Given the description of an element on the screen output the (x, y) to click on. 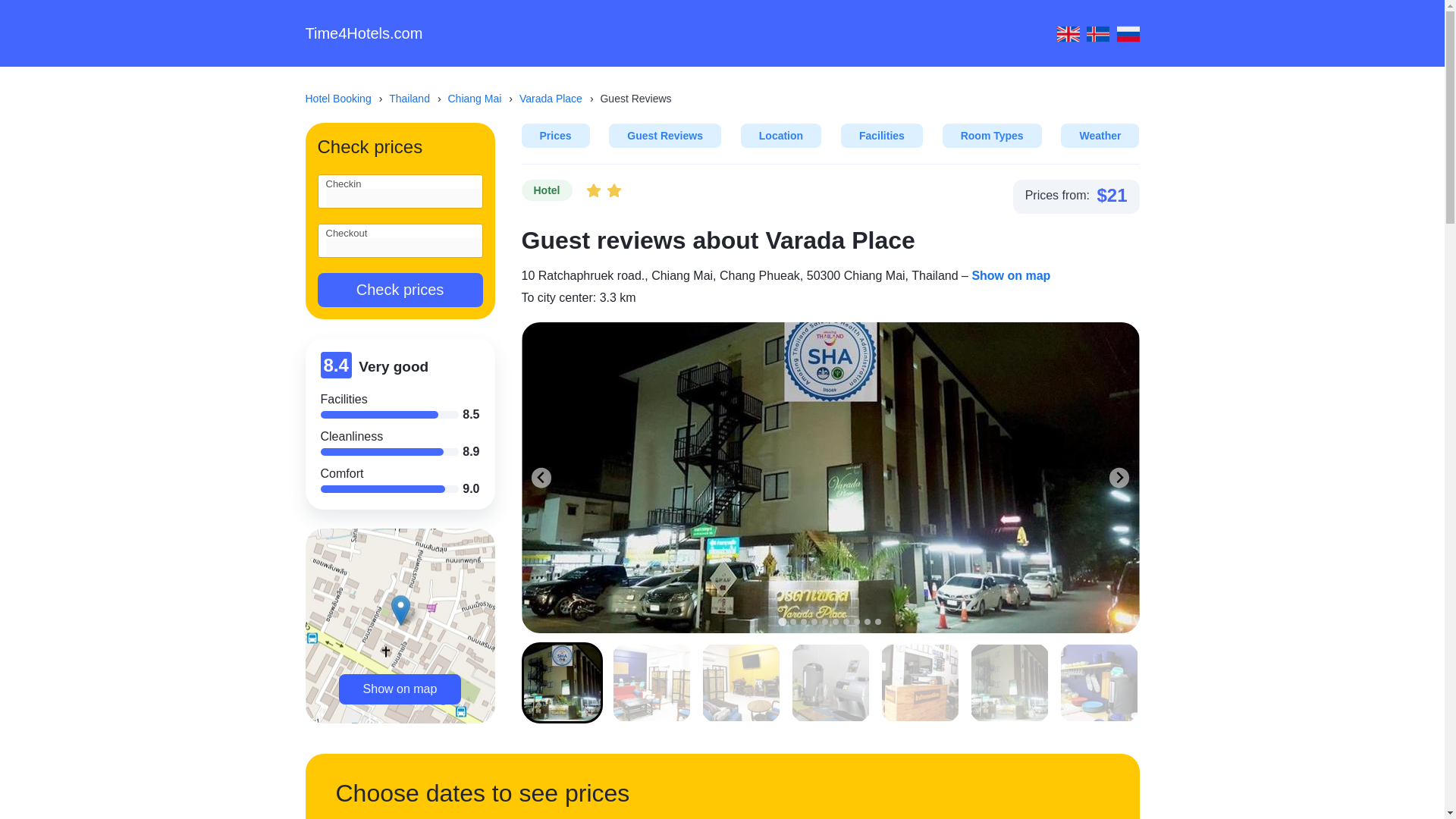
Room Types (992, 135)
Guest Reviews (664, 135)
Hotel Booking (344, 98)
Time4Hotels.com (363, 33)
Check prices (399, 289)
Show on map (400, 689)
Chiang Mai (481, 98)
Thailand (416, 98)
Prices (555, 135)
